Given the description of an element on the screen output the (x, y) to click on. 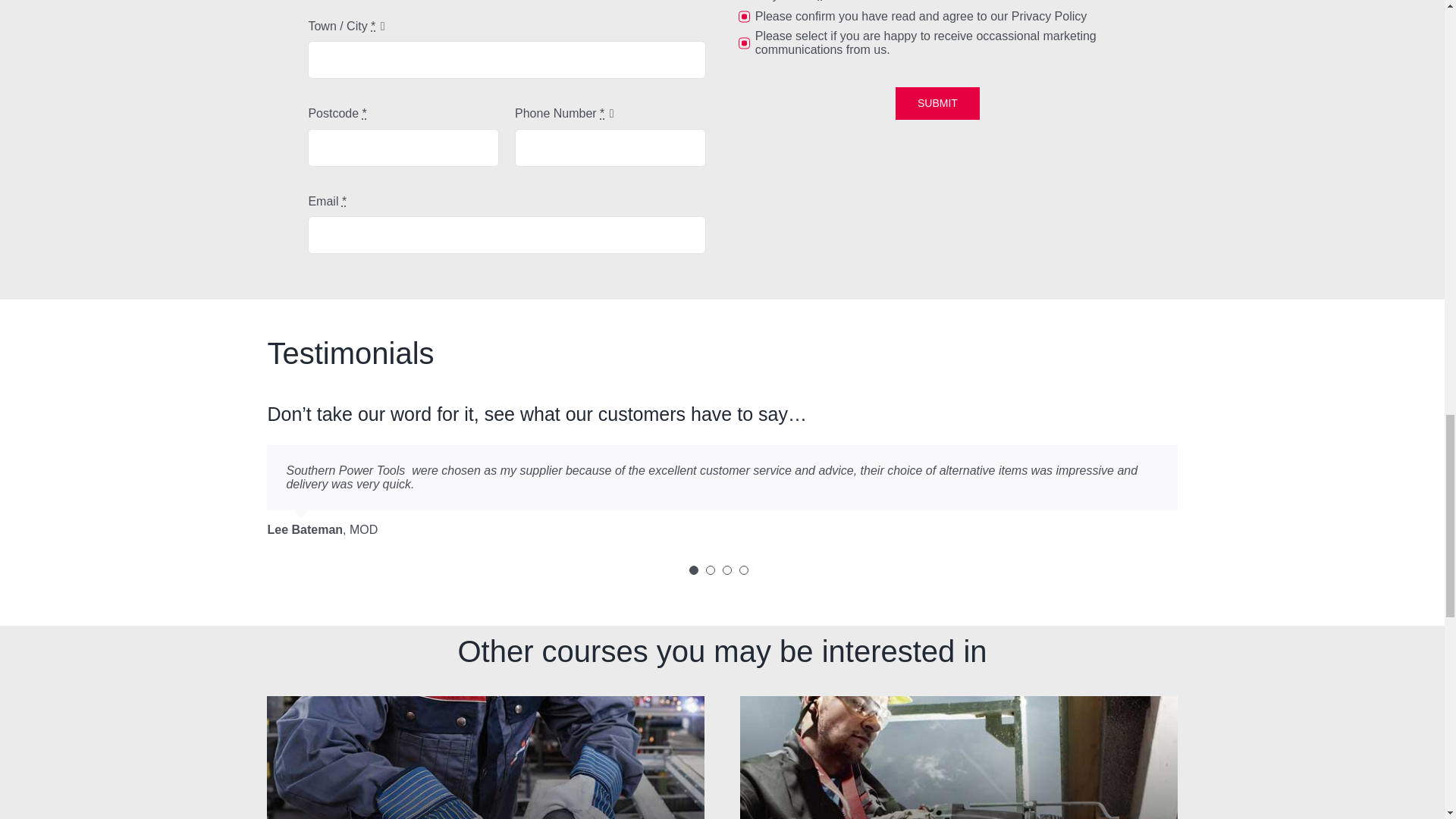
SUBMIT (937, 102)
Only numbers and phone characters are accepted. (610, 147)
